Given the description of an element on the screen output the (x, y) to click on. 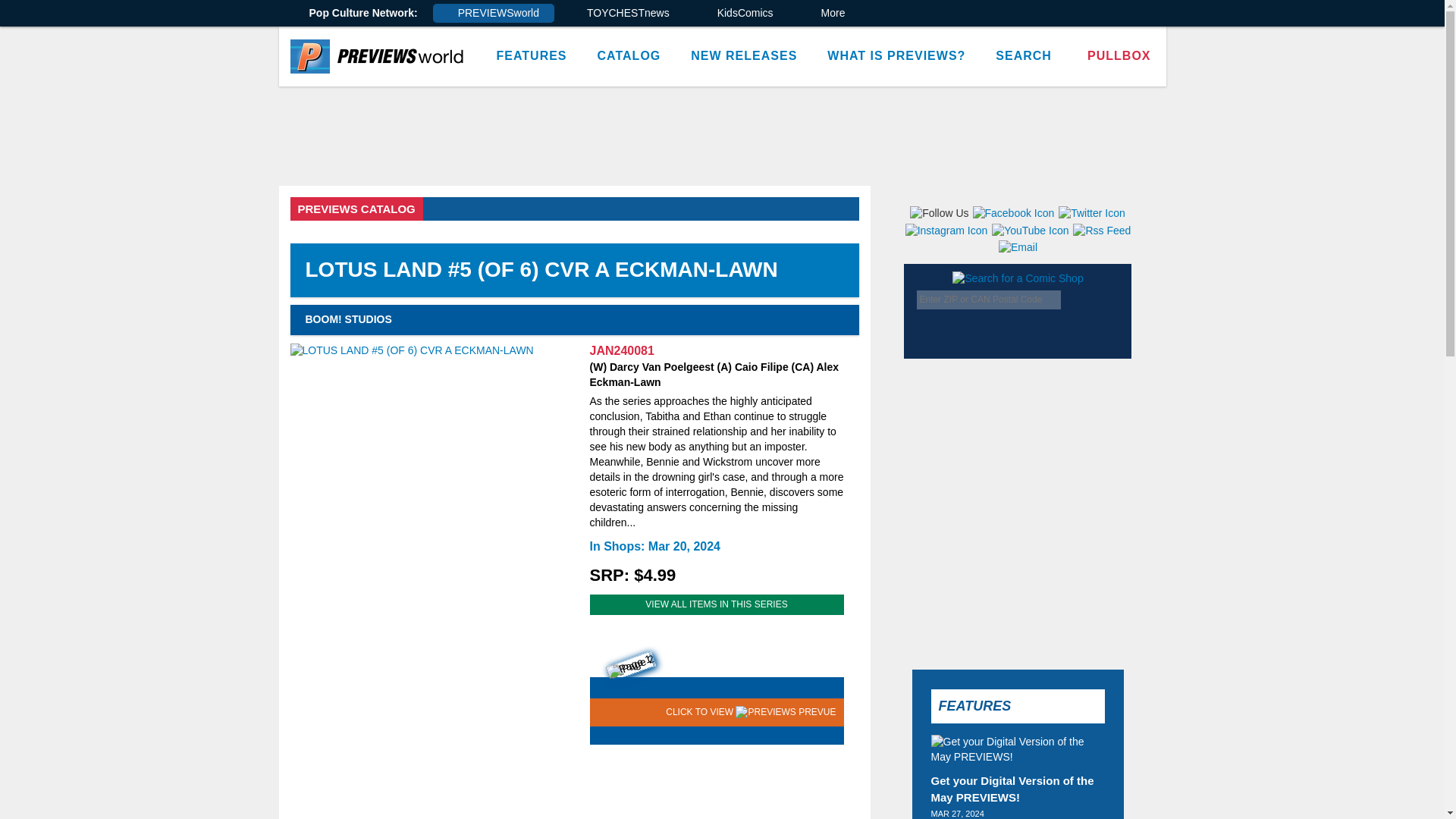
More (828, 13)
TOYCHESTnews (623, 13)
PREVIEWSworld (493, 13)
CATALOG (629, 55)
FEATURES (530, 55)
Join Our NewsLetter (1109, 426)
KidsComics (741, 13)
Enter ZIP or CAN Postal Code (989, 299)
Email Address Input for Newsletter Signup (1030, 429)
